Given the description of an element on the screen output the (x, y) to click on. 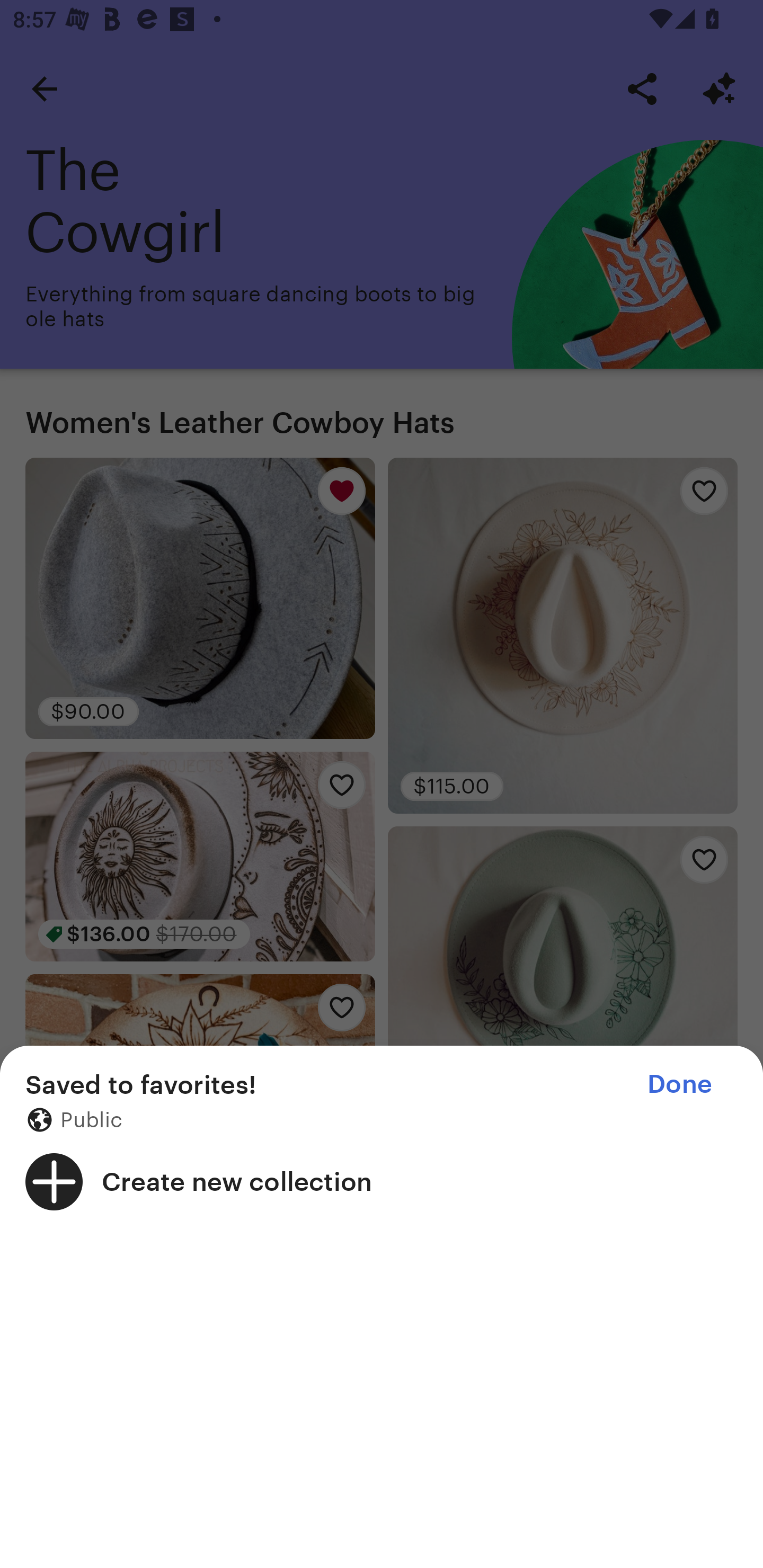
Done (679, 1083)
Create new collection (381, 1181)
